Given the description of an element on the screen output the (x, y) to click on. 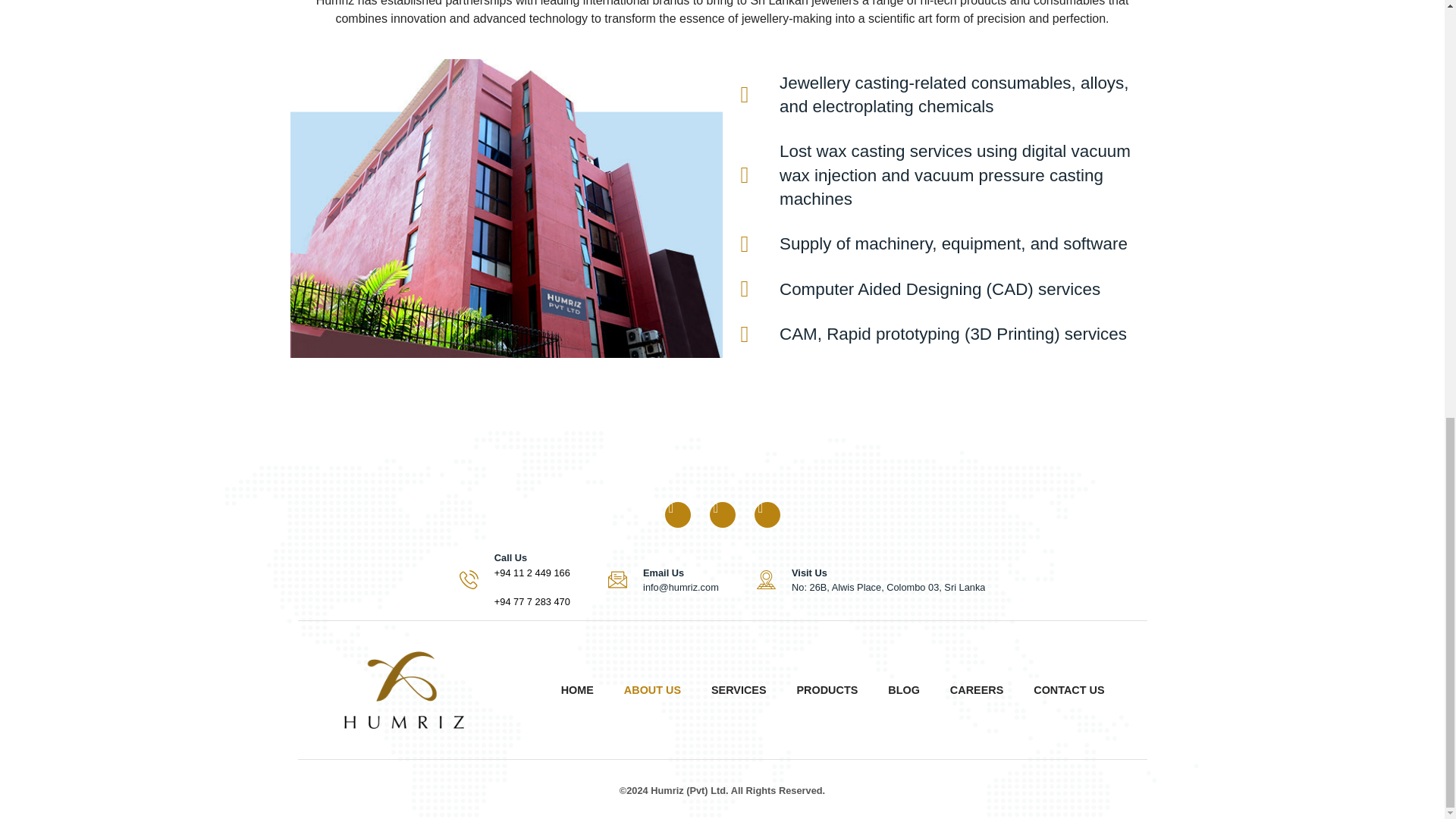
PRODUCTS (827, 689)
CONTACT US (1068, 689)
ABOUT US (652, 689)
CAREERS (976, 689)
SERVICES (739, 689)
HOME (577, 689)
BLOG (904, 689)
